Given the description of an element on the screen output the (x, y) to click on. 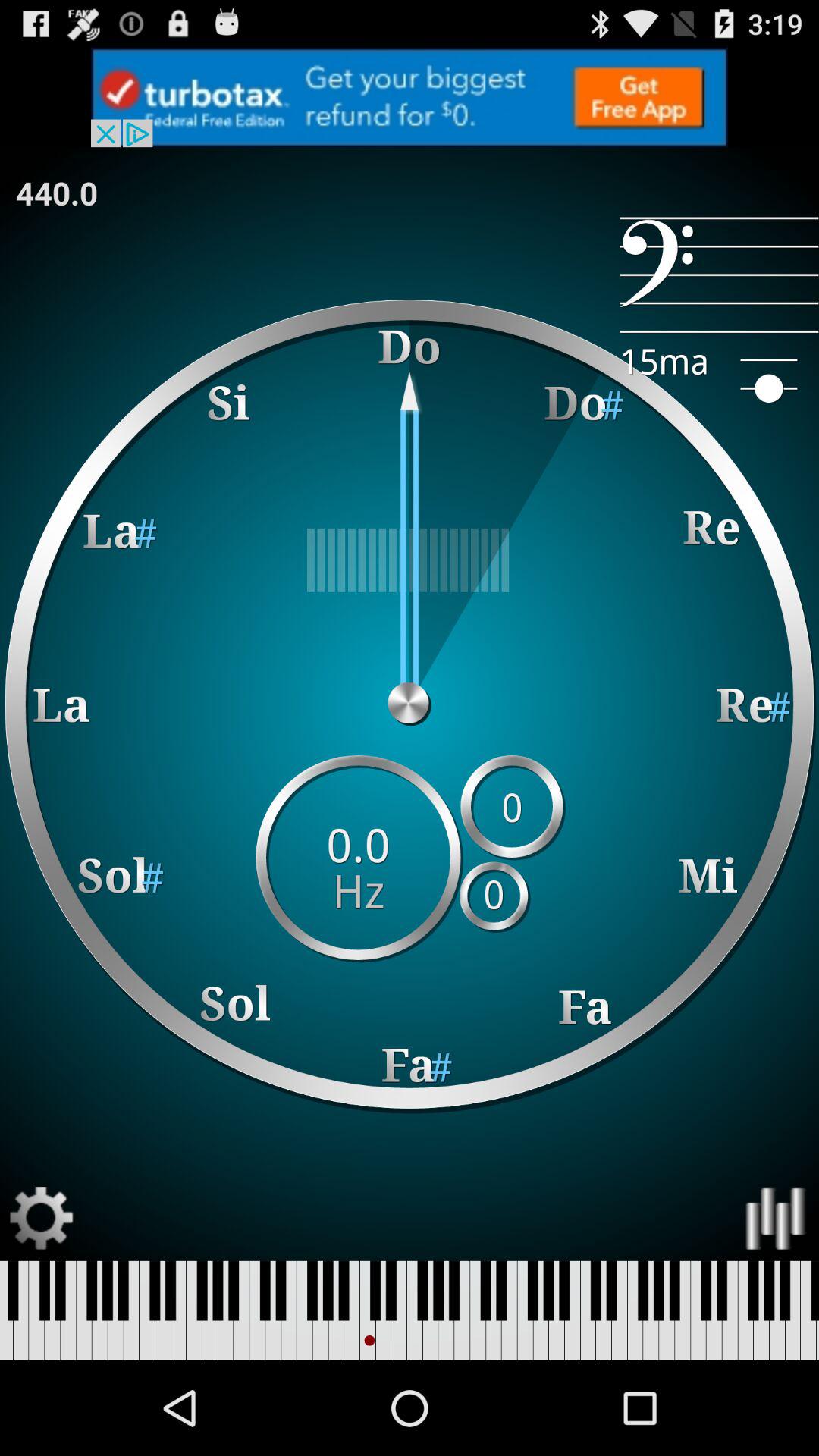
shows settings icon (42, 1218)
